Given the description of an element on the screen output the (x, y) to click on. 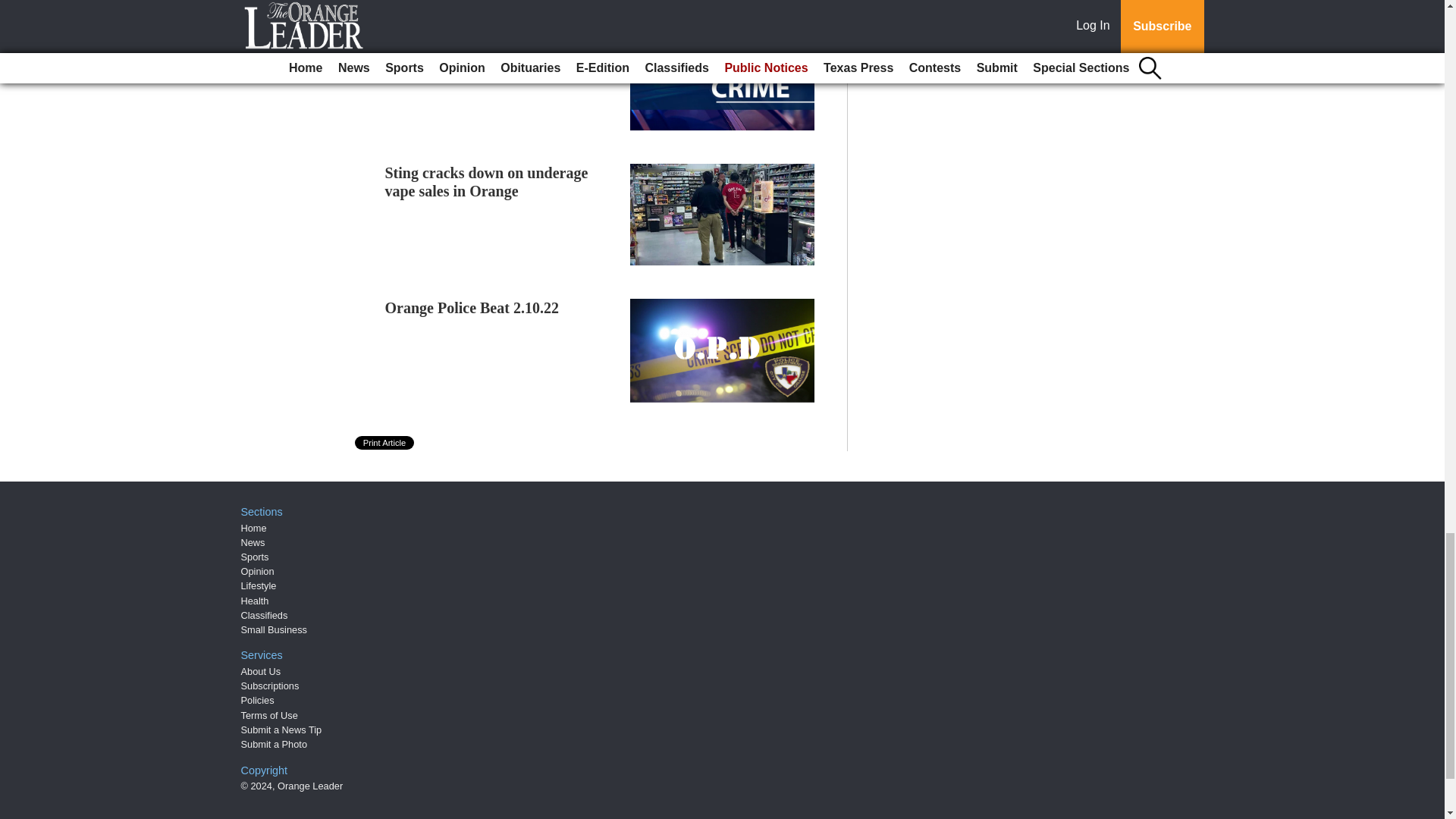
Print Article (384, 442)
Sting cracks down on underage vape sales in Orange (486, 181)
Police investigating shooting of Bridge City woman (485, 44)
Sting cracks down on underage vape sales in Orange (486, 181)
Orange Police Beat 2.10.22 (472, 307)
Police investigating shooting of Bridge City woman (485, 44)
Orange Police Beat 2.10.22 (472, 307)
